Given the description of an element on the screen output the (x, y) to click on. 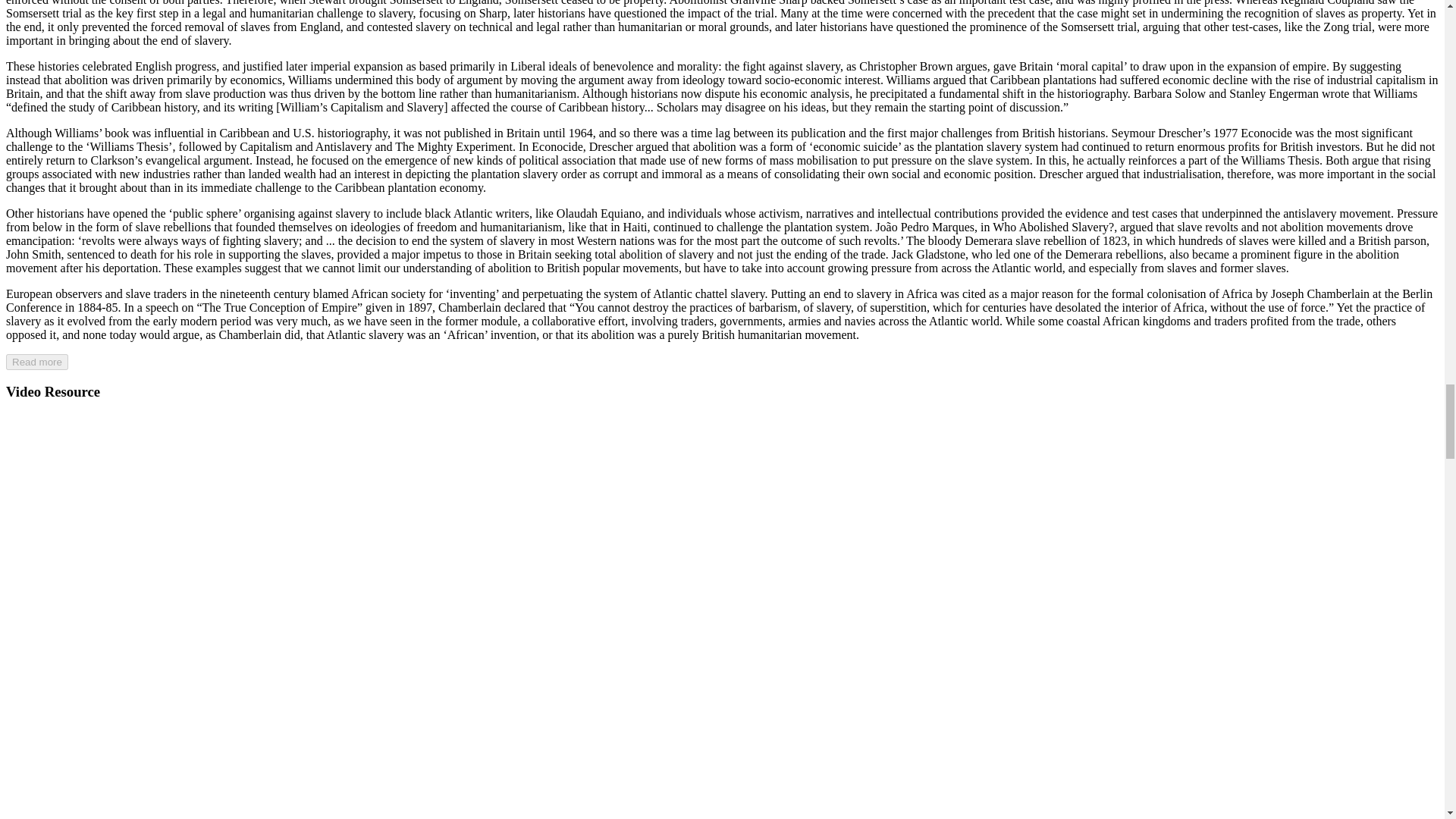
Read more (36, 361)
